Given the description of an element on the screen output the (x, y) to click on. 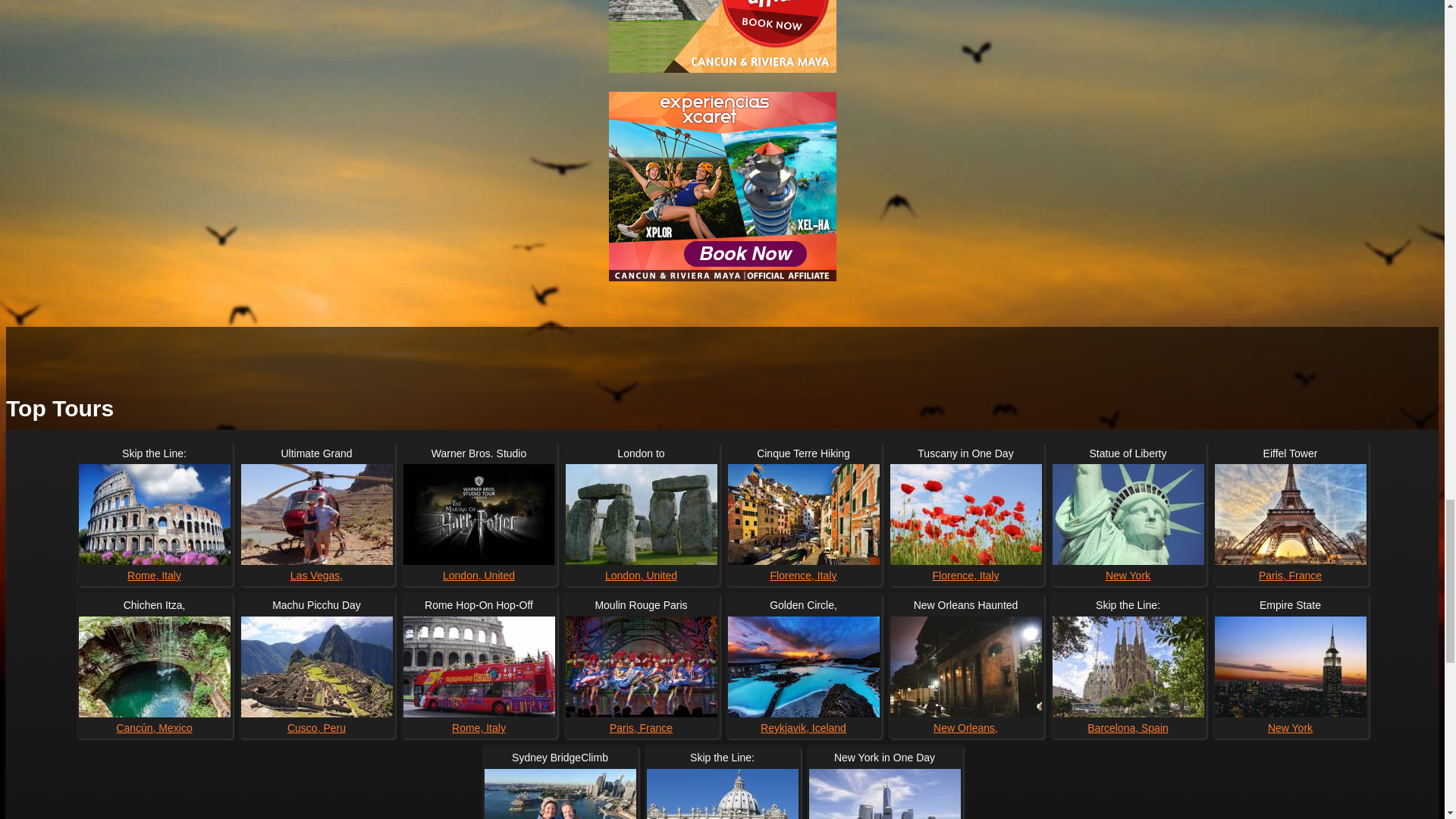
Warner Bros. Studio Tour London - The Making of Harry Potter (478, 514)
Cinque Terre Hiking Day Trip from Florence (803, 514)
Ultimate Grand Canyon 4-in-1 Helicopter Tour (317, 514)
